Given the description of an element on the screen output the (x, y) to click on. 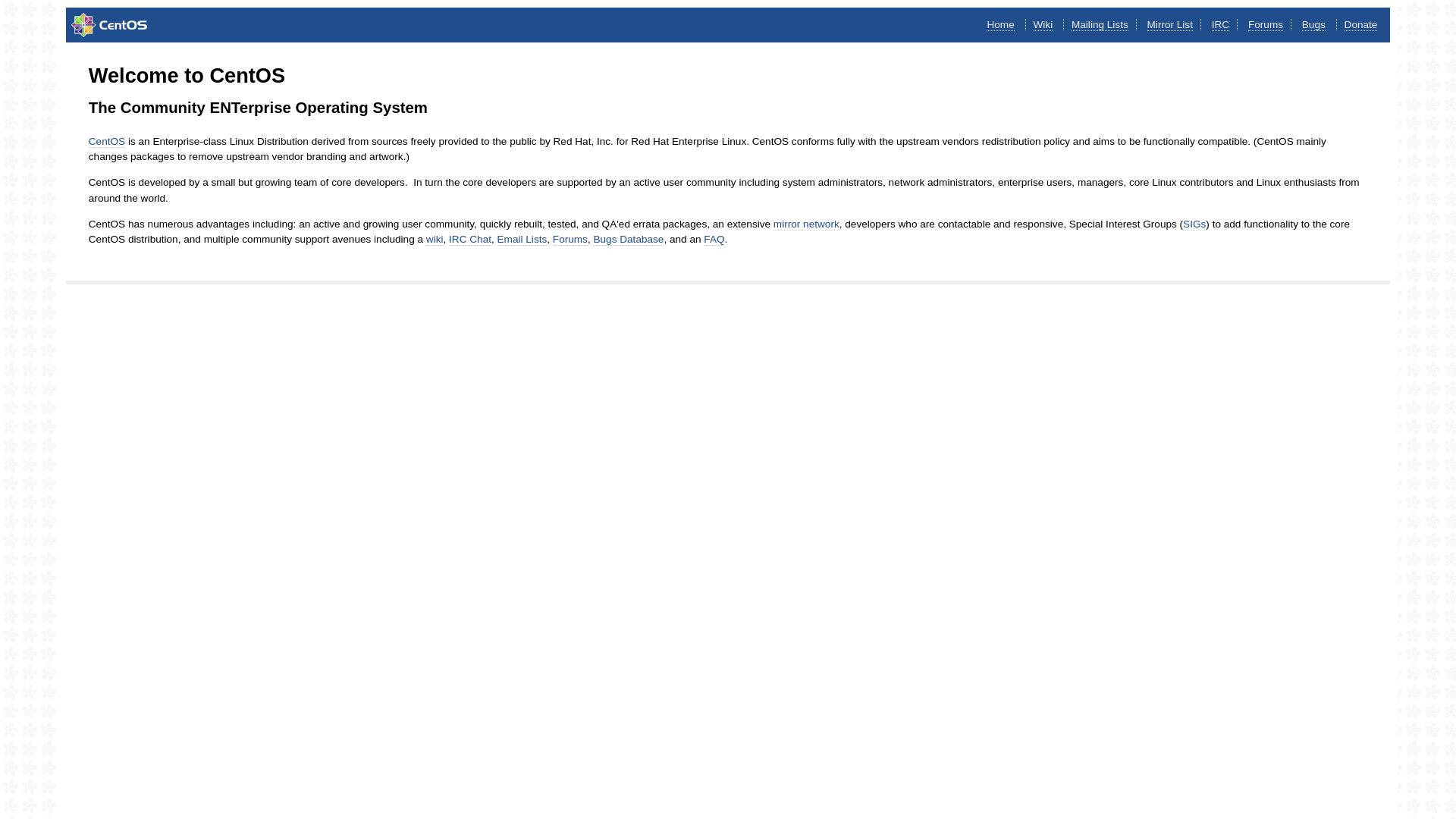
Donate Element type: text (1360, 24)
IRC Element type: text (1220, 24)
mirror network Element type: text (806, 224)
Bugs Database Element type: text (628, 239)
Mirror List Element type: text (1169, 24)
Wiki Element type: text (1042, 24)
Forums Element type: text (1265, 24)
Mailing Lists Element type: text (1099, 24)
SIGs Element type: text (1194, 224)
FAQ Element type: text (713, 239)
Bugs Element type: text (1313, 24)
Forums Element type: text (569, 239)
wiki Element type: text (434, 239)
Home Element type: text (999, 24)
CentOS Element type: text (106, 141)
Email Lists Element type: text (522, 239)
IRC Chat Element type: text (469, 239)
